Given the description of an element on the screen output the (x, y) to click on. 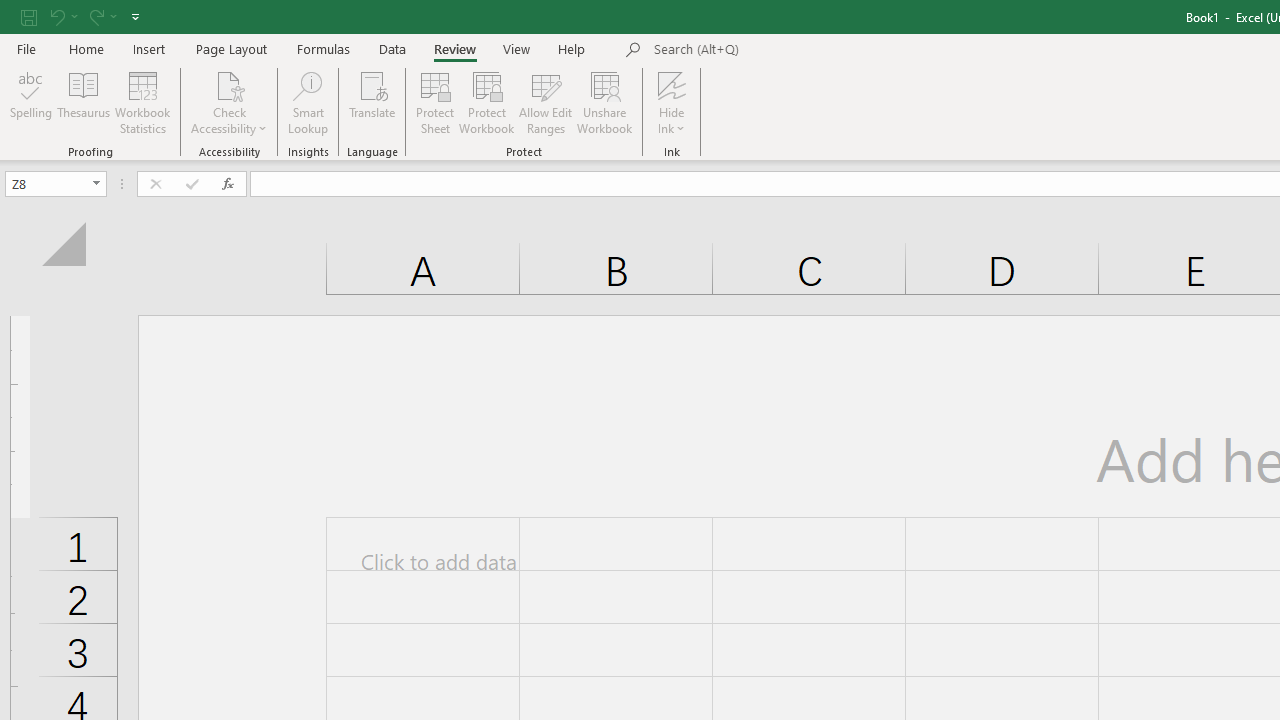
Protect Workbook... (486, 102)
Allow Edit Ranges (545, 102)
Workbook Statistics (142, 102)
Unshare Workbook (604, 102)
Spelling... (31, 102)
